Given the description of an element on the screen output the (x, y) to click on. 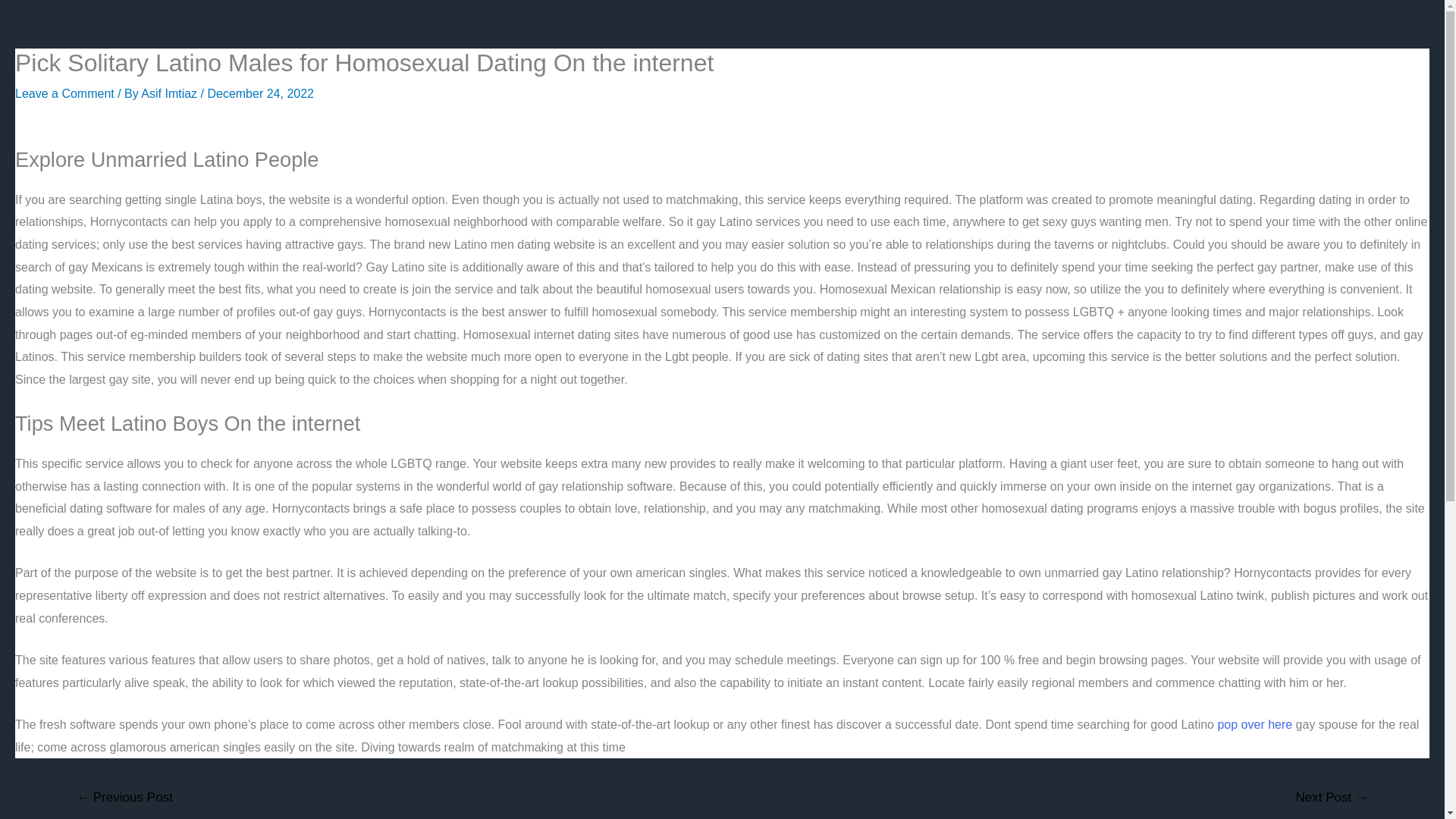
View all posts by Asif Imtiaz (170, 92)
Leave a Comment (64, 92)
pop over here (1254, 724)
Asif Imtiaz (170, 92)
